Given the description of an element on the screen output the (x, y) to click on. 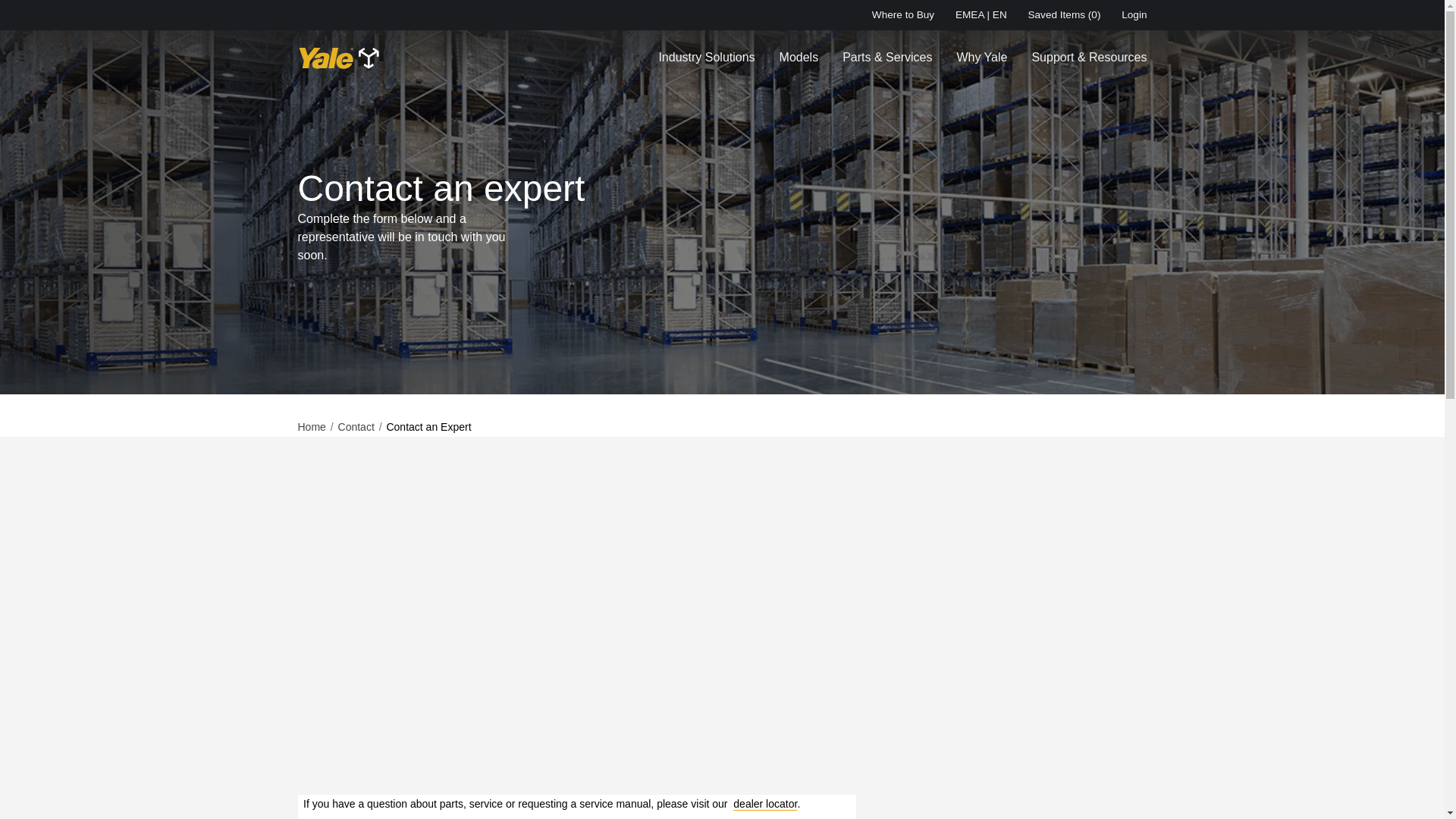
Why Yale (981, 57)
Where to Buy (903, 15)
Where to Buy (903, 15)
Industry Solutions (706, 57)
